Given the description of an element on the screen output the (x, y) to click on. 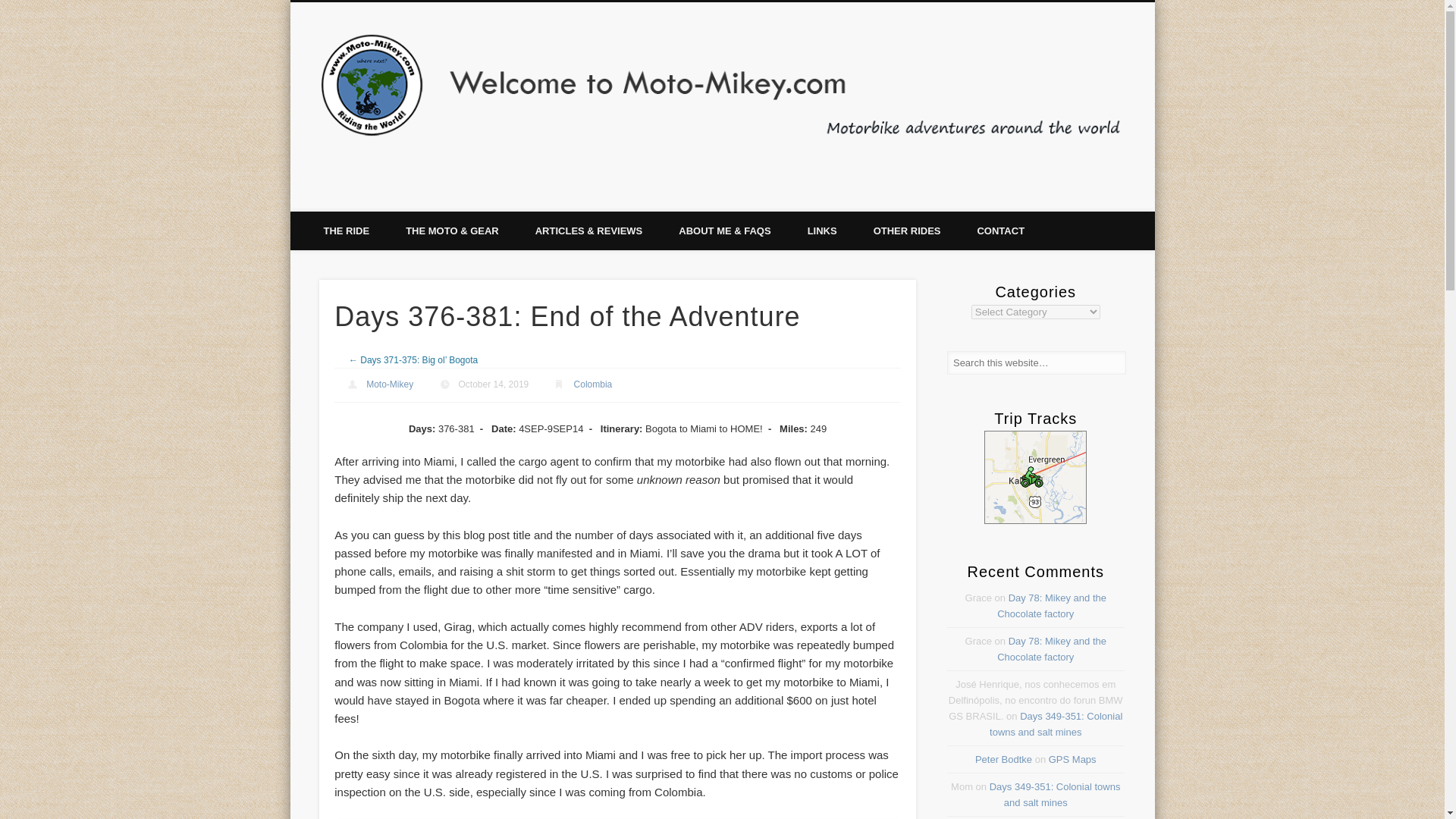
LINKS (822, 230)
Moto-Mikey (389, 384)
THE RIDE (345, 230)
Search (11, 7)
Colombia (592, 384)
OTHER RIDES (907, 230)
CONTACT (1000, 230)
Posts by Moto-Mikey (389, 384)
